Given the description of an element on the screen output the (x, y) to click on. 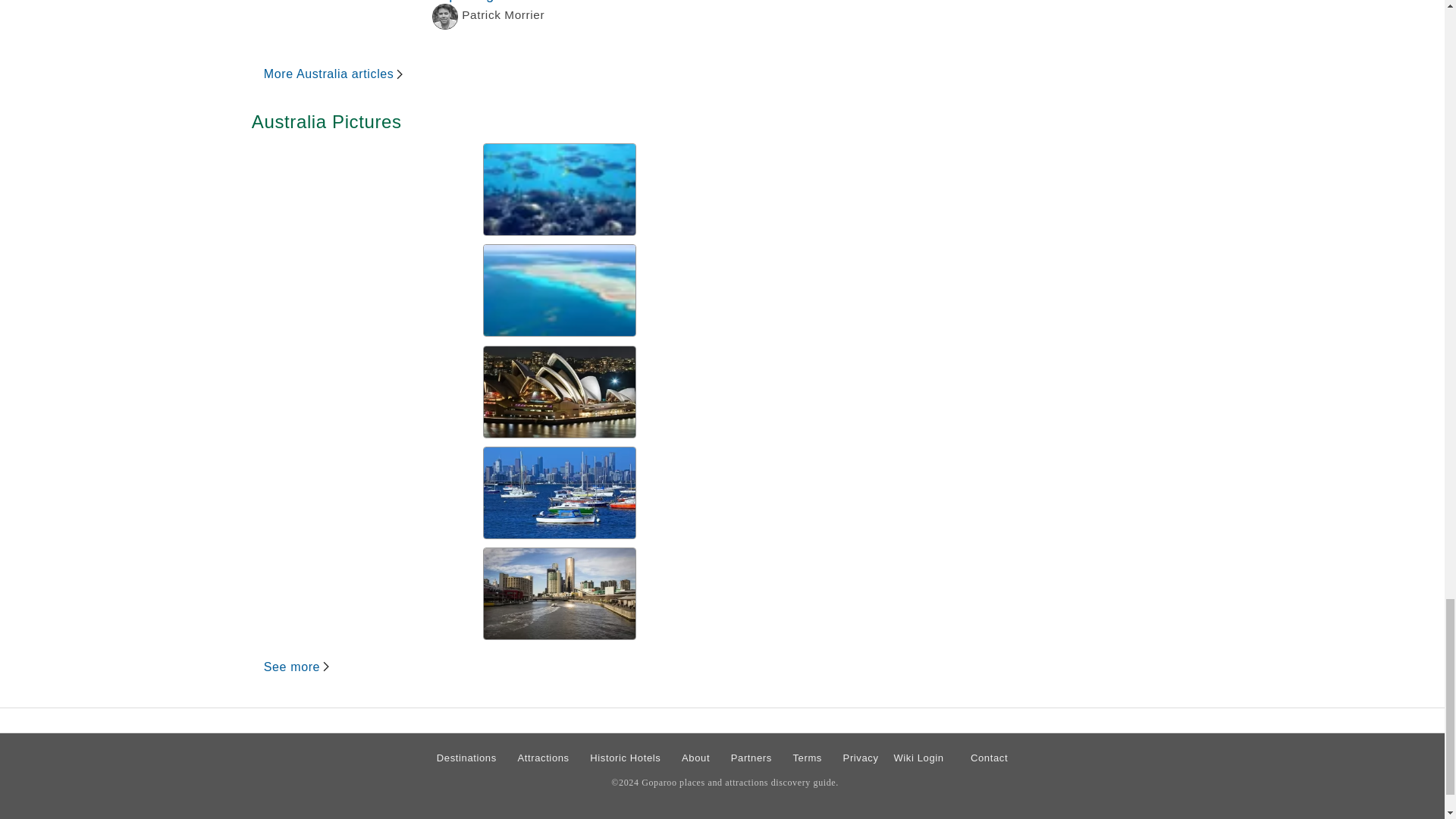
Sydney Opera House (559, 391)
More Australia articles (334, 73)
Melbourne Southbank Sea View (559, 492)
The Great Barrier Reef - Underwater (562, 21)
Melbourne Wharf (559, 189)
The Great Barrier Reef - Aerial View (559, 593)
